Given the description of an element on the screen output the (x, y) to click on. 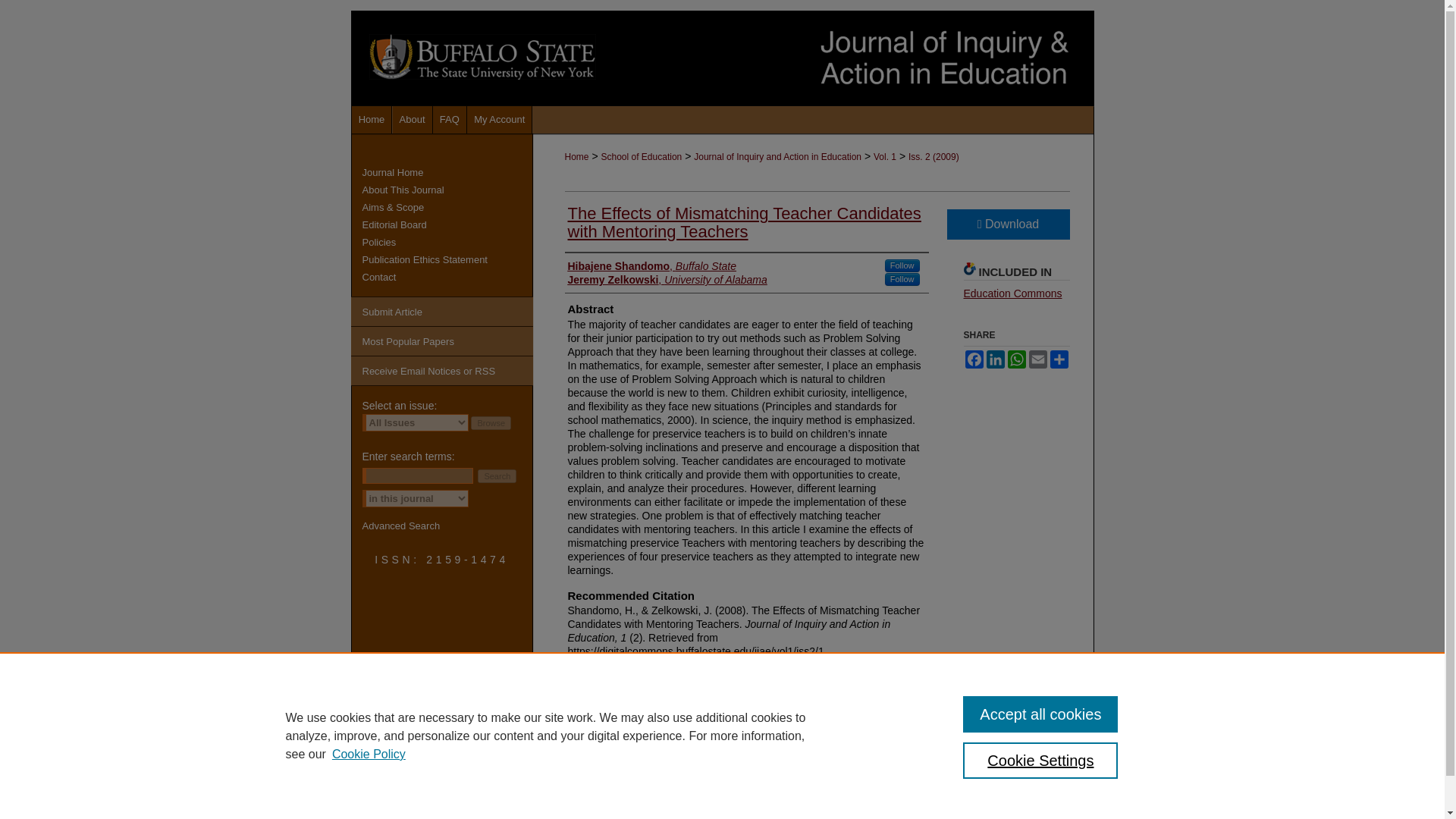
Education Commons (1011, 293)
My Account (499, 119)
Search (496, 476)
My Account (499, 119)
FAQ (449, 119)
Email (1037, 359)
Search (496, 476)
Education Commons (1011, 293)
Home (371, 119)
Journal of Inquiry and Action in Education (777, 156)
Submit Article to Journal of Inquiry and Action in Education (441, 311)
Follow Hibajene Shandomo (902, 265)
Home (371, 119)
Share (1058, 359)
